Given the description of an element on the screen output the (x, y) to click on. 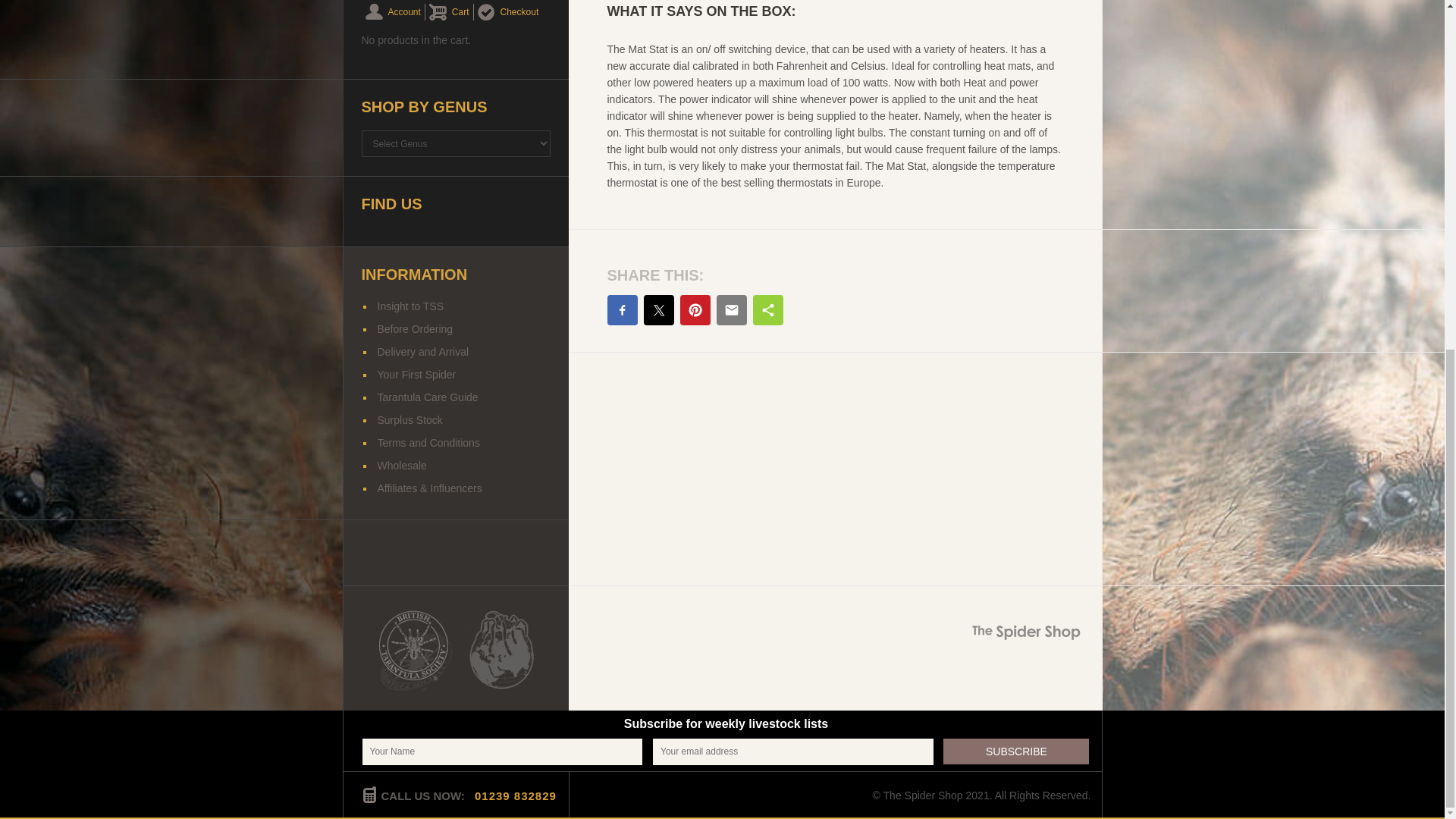
My Account (392, 12)
Subscribe (1016, 751)
